Given the description of an element on the screen output the (x, y) to click on. 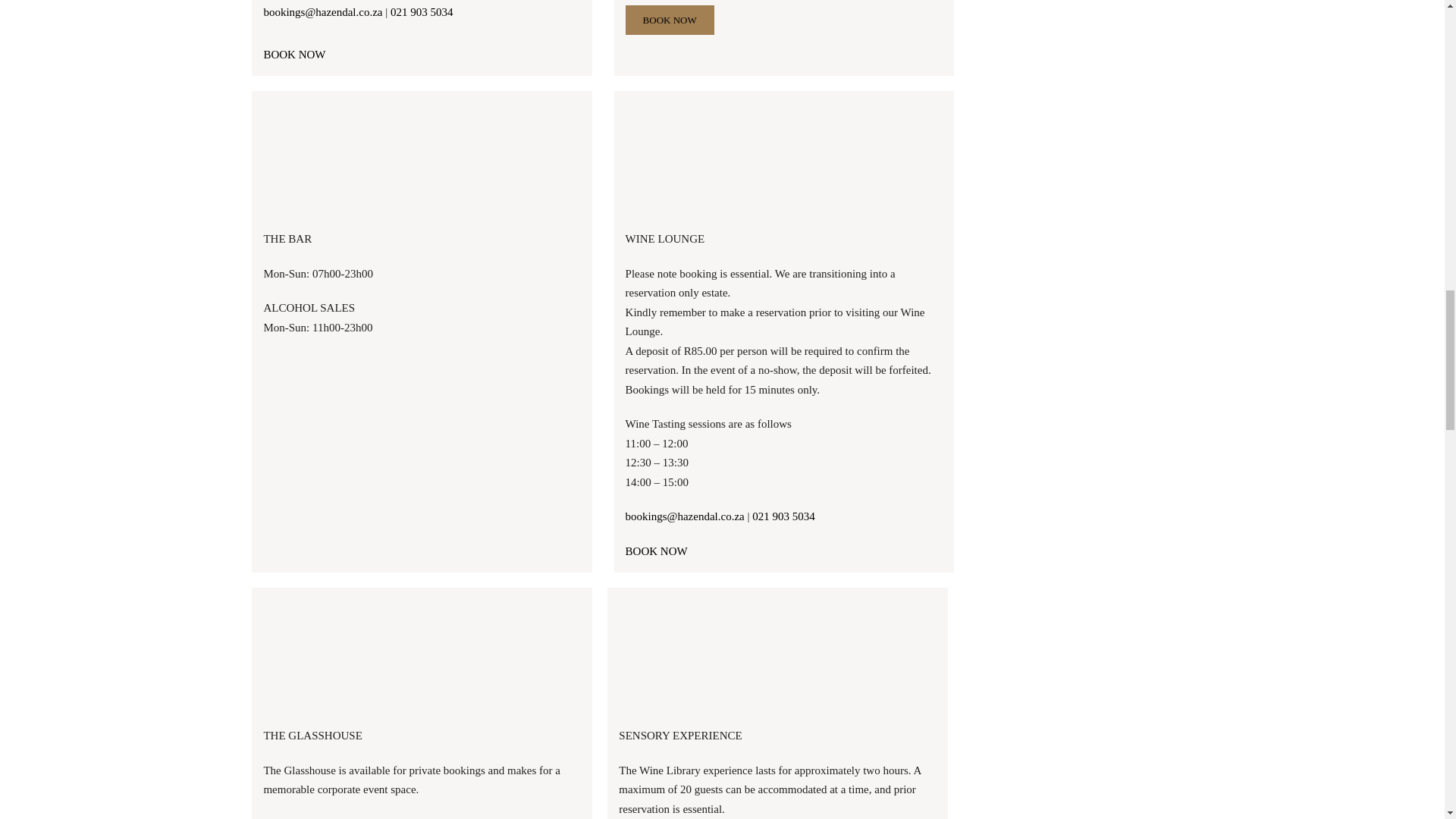
BOOK NOW (656, 550)
wine-tasting (784, 158)
BOOK NOW (293, 54)
The-Bar (421, 158)
BOOK NOW (670, 19)
TG-contact-time (421, 654)
021 903 5034 (783, 516)
SE-contact-time (777, 654)
021 903 5034 (421, 11)
